Given the description of an element on the screen output the (x, y) to click on. 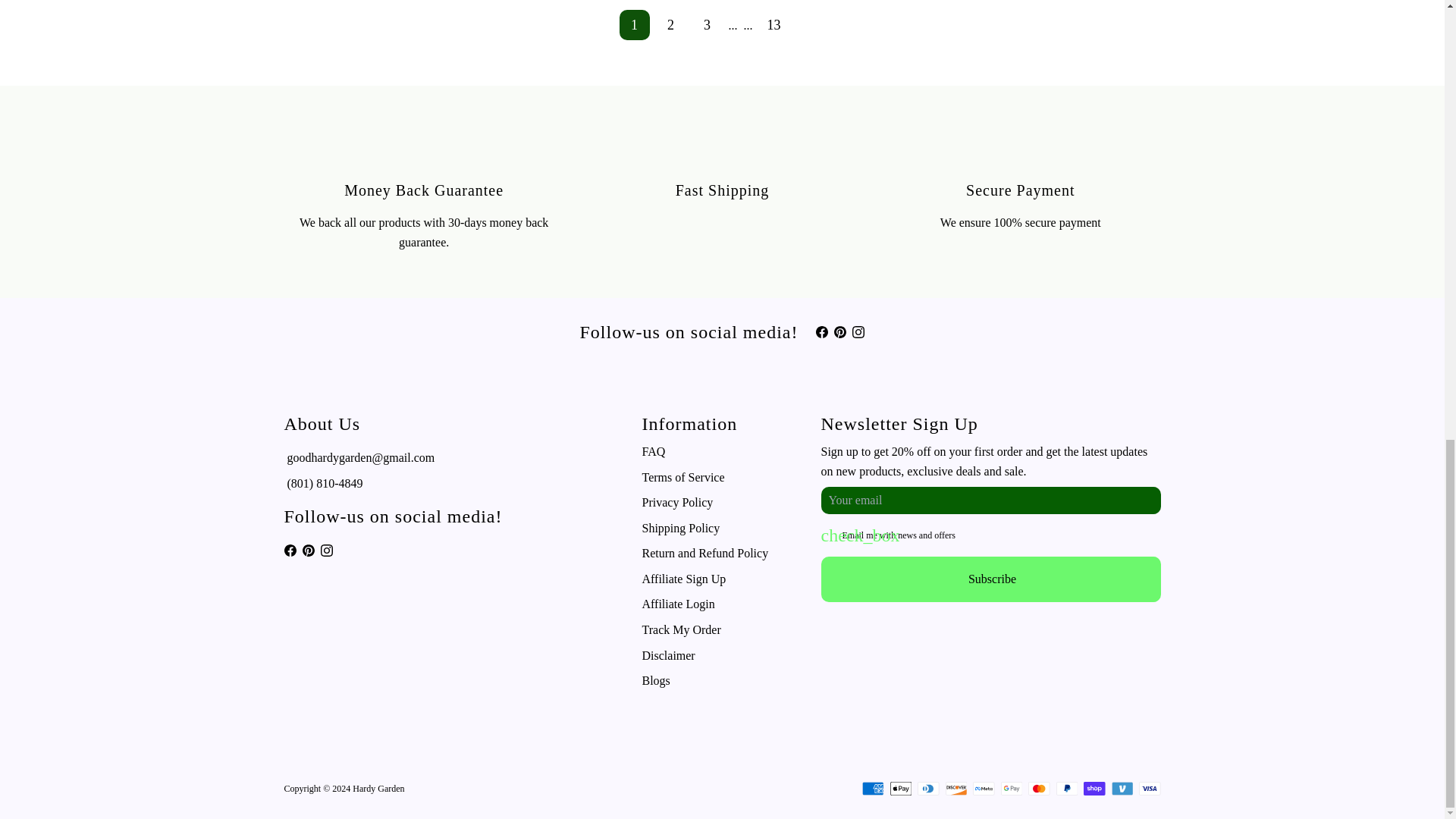
American Express (872, 788)
Google Pay (1011, 788)
Mastercard (1038, 788)
Meta Pay (983, 788)
PayPal (1066, 788)
Diners Club (928, 788)
Venmo (1122, 788)
Apple Pay (900, 788)
Shop Pay (1094, 788)
Discover (955, 788)
Visa (1149, 788)
